Given the description of an element on the screen output the (x, y) to click on. 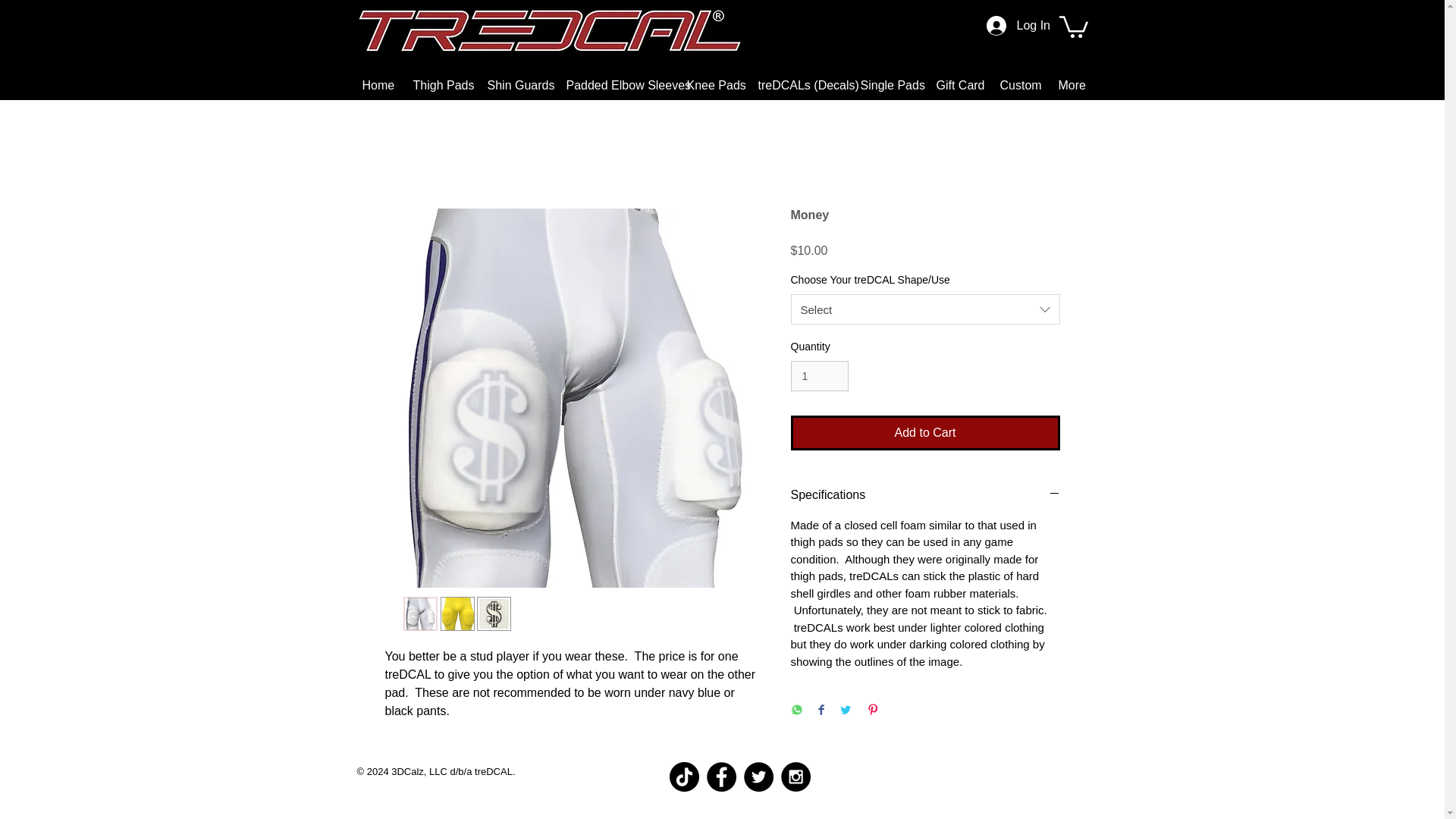
1 (818, 376)
Select (924, 309)
Thigh Pads (438, 85)
Custom (1017, 85)
Home (375, 85)
Add to Cart (924, 432)
Gift Card (956, 85)
Shin Guards (515, 85)
Log In (1002, 25)
Padded Elbow Sleeves (614, 85)
Single Pads (886, 85)
Specifications (924, 494)
Knee Pads (710, 85)
